Given the description of an element on the screen output the (x, y) to click on. 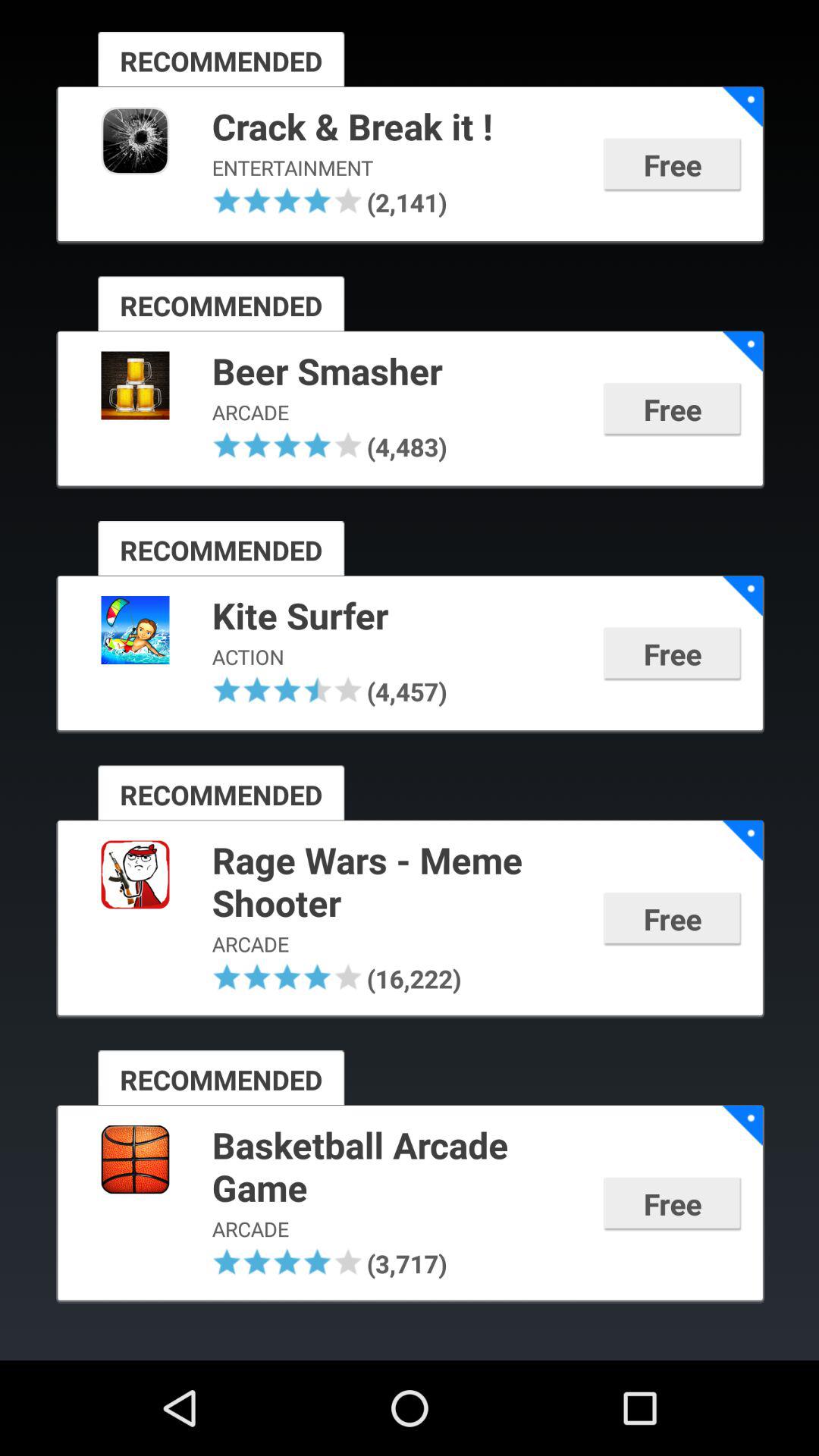
open icon to the left of free (404, 201)
